Given the description of an element on the screen output the (x, y) to click on. 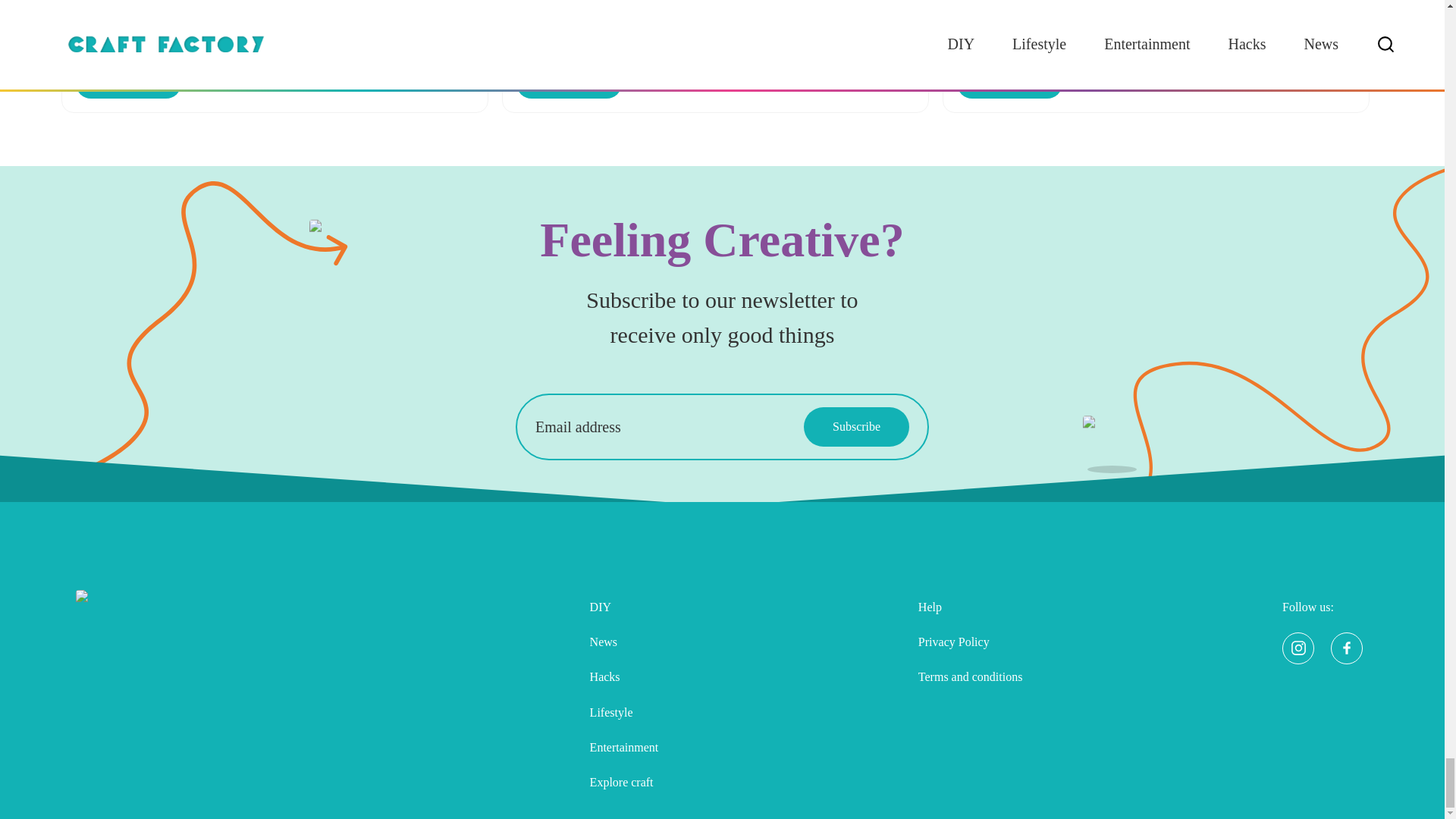
Hacks (624, 677)
Read more (568, 82)
Lifestyle (624, 712)
Read more (127, 82)
Subscribe (855, 426)
DIY (624, 606)
News (624, 642)
Help (970, 606)
Explore craft (624, 782)
Entertainment (624, 747)
Privacy Policy (970, 642)
Terms and conditions (970, 677)
Read more (1009, 82)
